Given the description of an element on the screen output the (x, y) to click on. 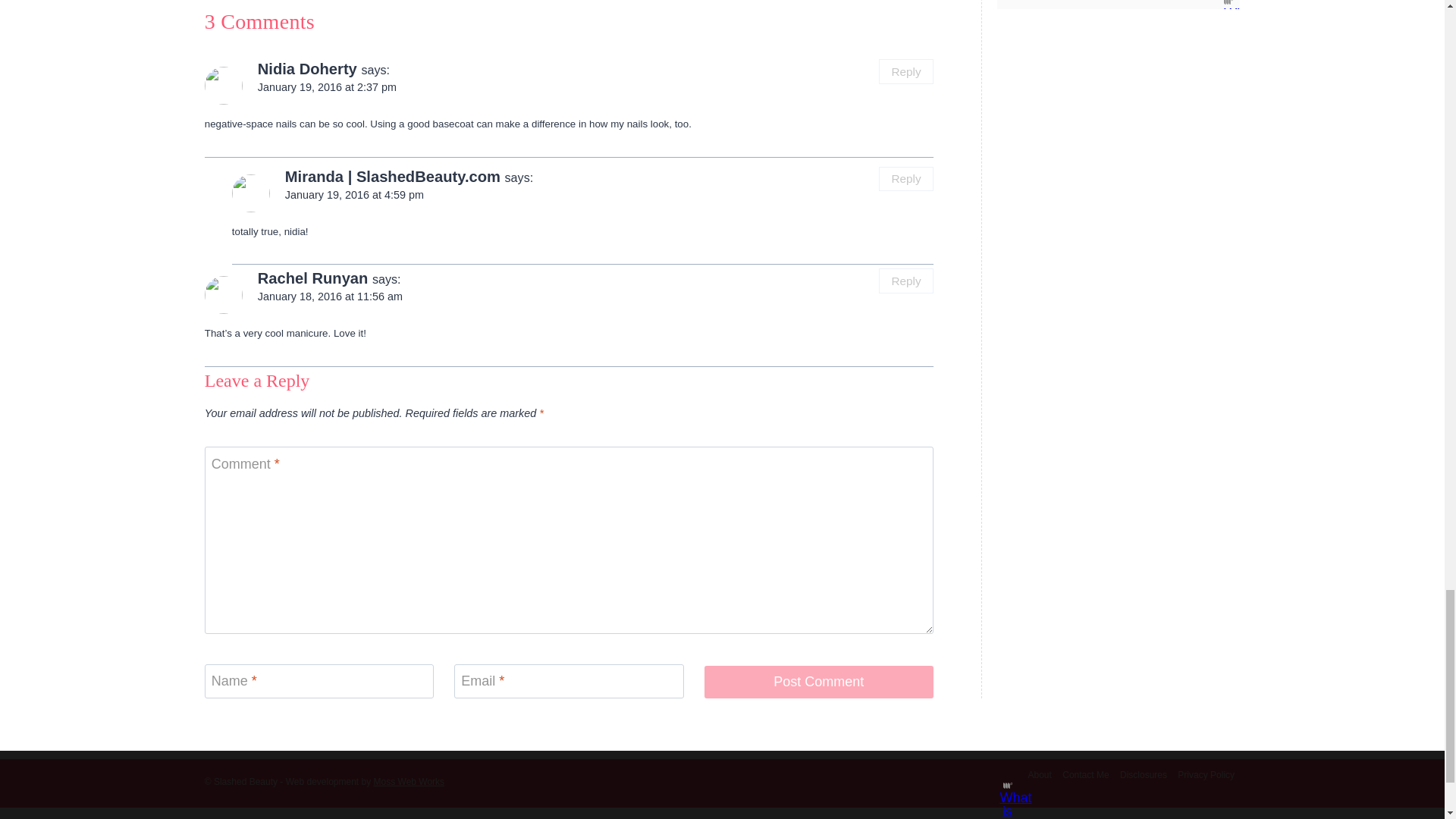
Post Comment (818, 681)
